Given the description of an element on the screen output the (x, y) to click on. 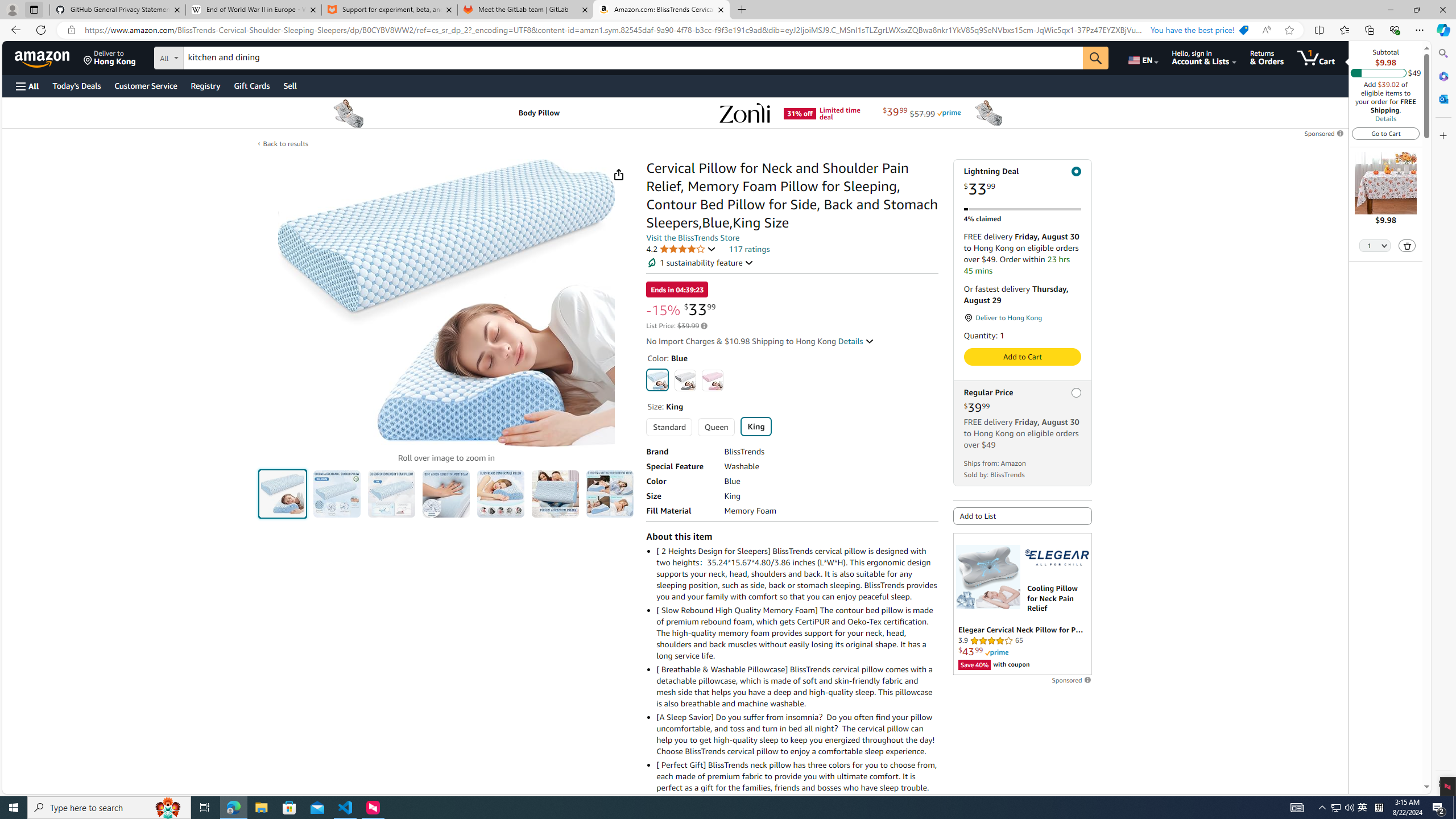
Share (618, 174)
End of World War II in Europe - Wikipedia (253, 9)
Amazon (43, 57)
Open Menu (26, 86)
Search in (210, 56)
Customer Service (145, 85)
Standard (668, 426)
Skip to main content (48, 56)
You have the best price! (1199, 29)
4.2 4.2 out of 5 stars (681, 248)
Lightning Deal $33.99 (1022, 181)
Deliver to Hong Kong (109, 57)
